Given the description of an element on the screen output the (x, y) to click on. 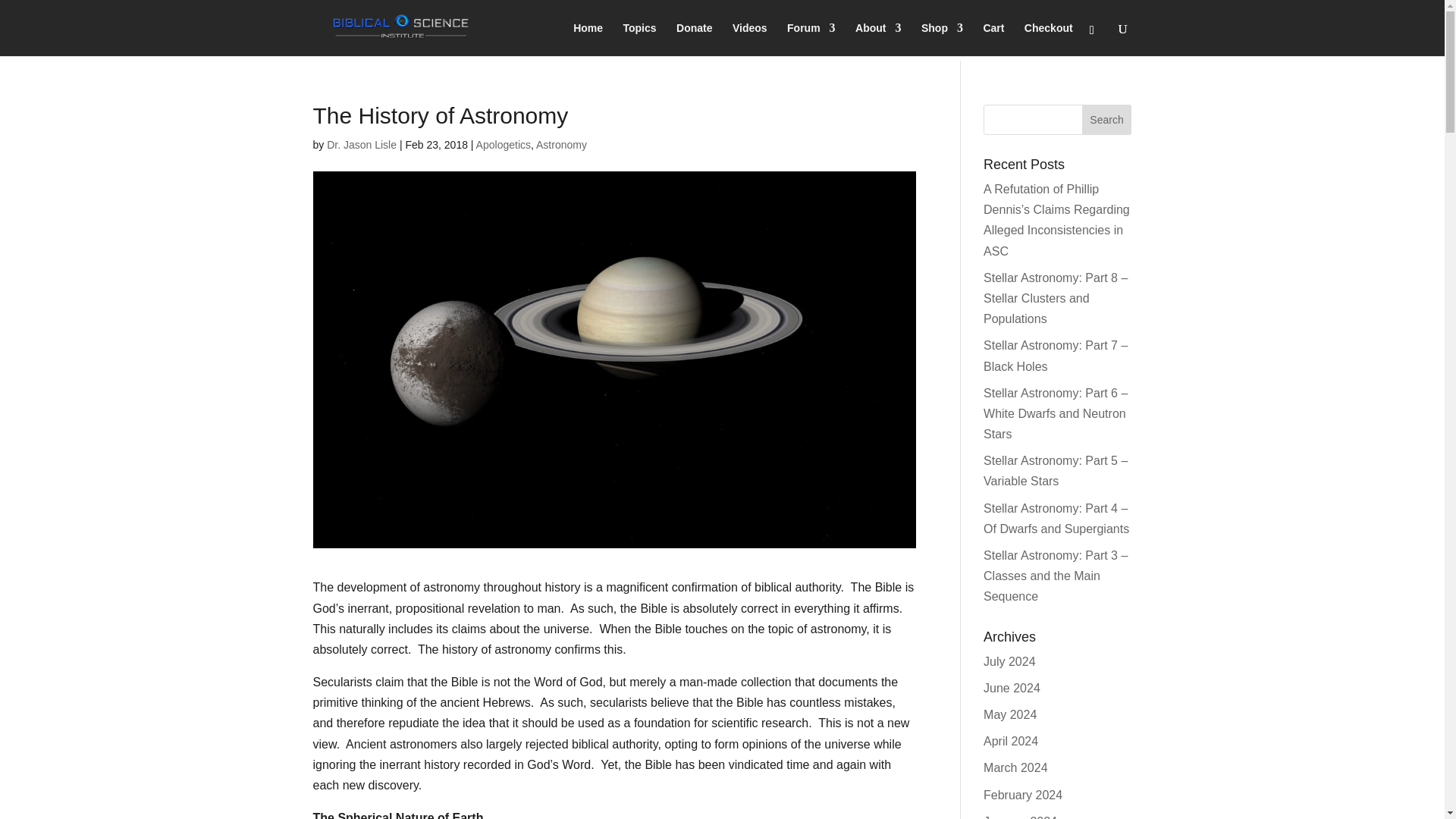
Checkout (1049, 39)
Videos (749, 39)
Search (1106, 119)
Donate (694, 39)
Dr. Jason Lisle (361, 144)
Forum (811, 39)
Search (1106, 119)
Posts by Dr. Jason Lisle (361, 144)
Astronomy (560, 144)
Shop (941, 39)
Topics (639, 39)
Apologetics (503, 144)
About (878, 39)
